Given the description of an element on the screen output the (x, y) to click on. 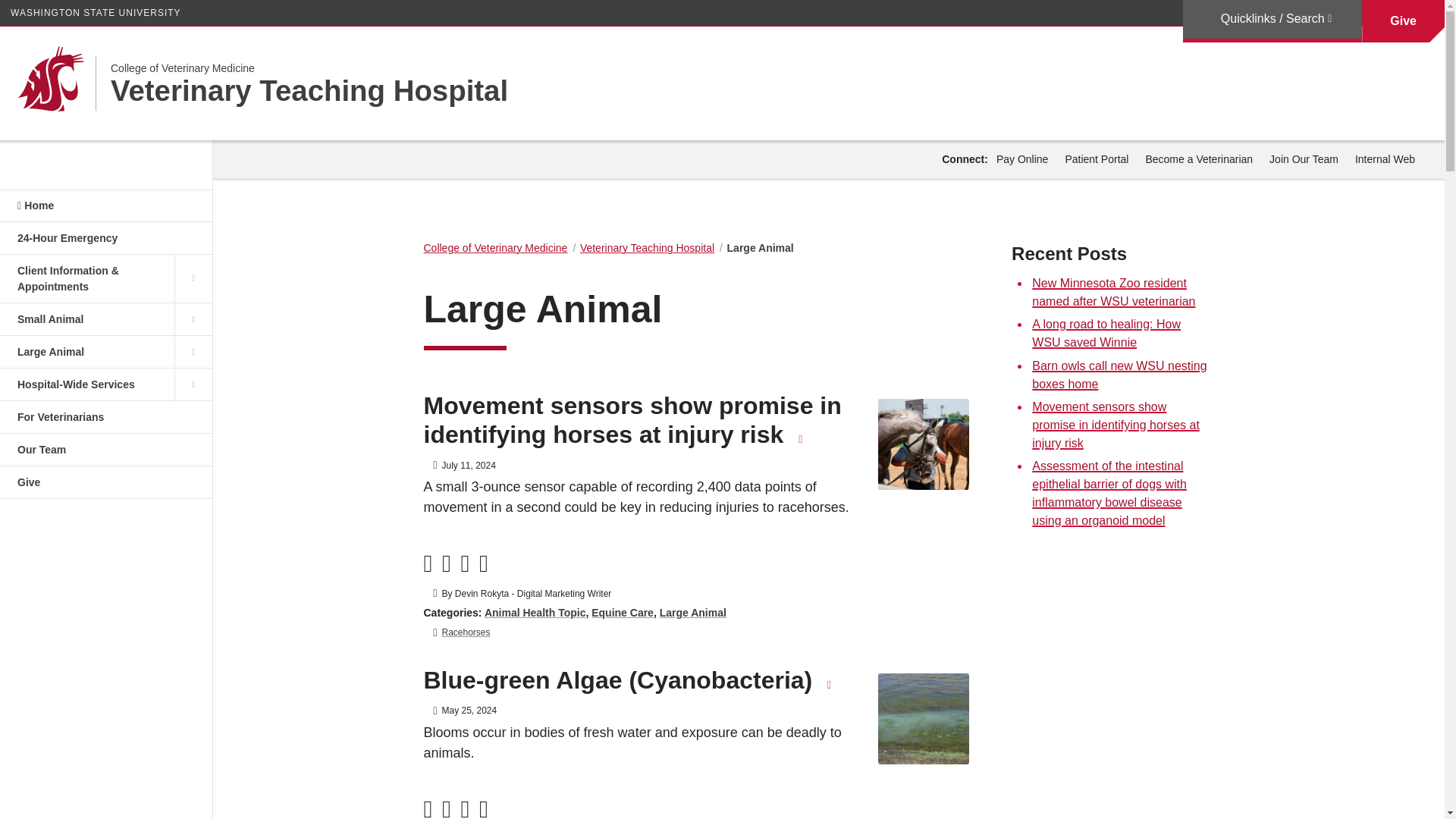
Veterinary Teaching Hospital (309, 90)
College of Veterinary Medicine (309, 68)
Go to Veterinary Teaching Hospital. (646, 247)
WASHINGTON STATE UNIVERSITY (96, 12)
Go to College of Veterinary Medicine Network. (495, 247)
